Given the description of an element on the screen output the (x, y) to click on. 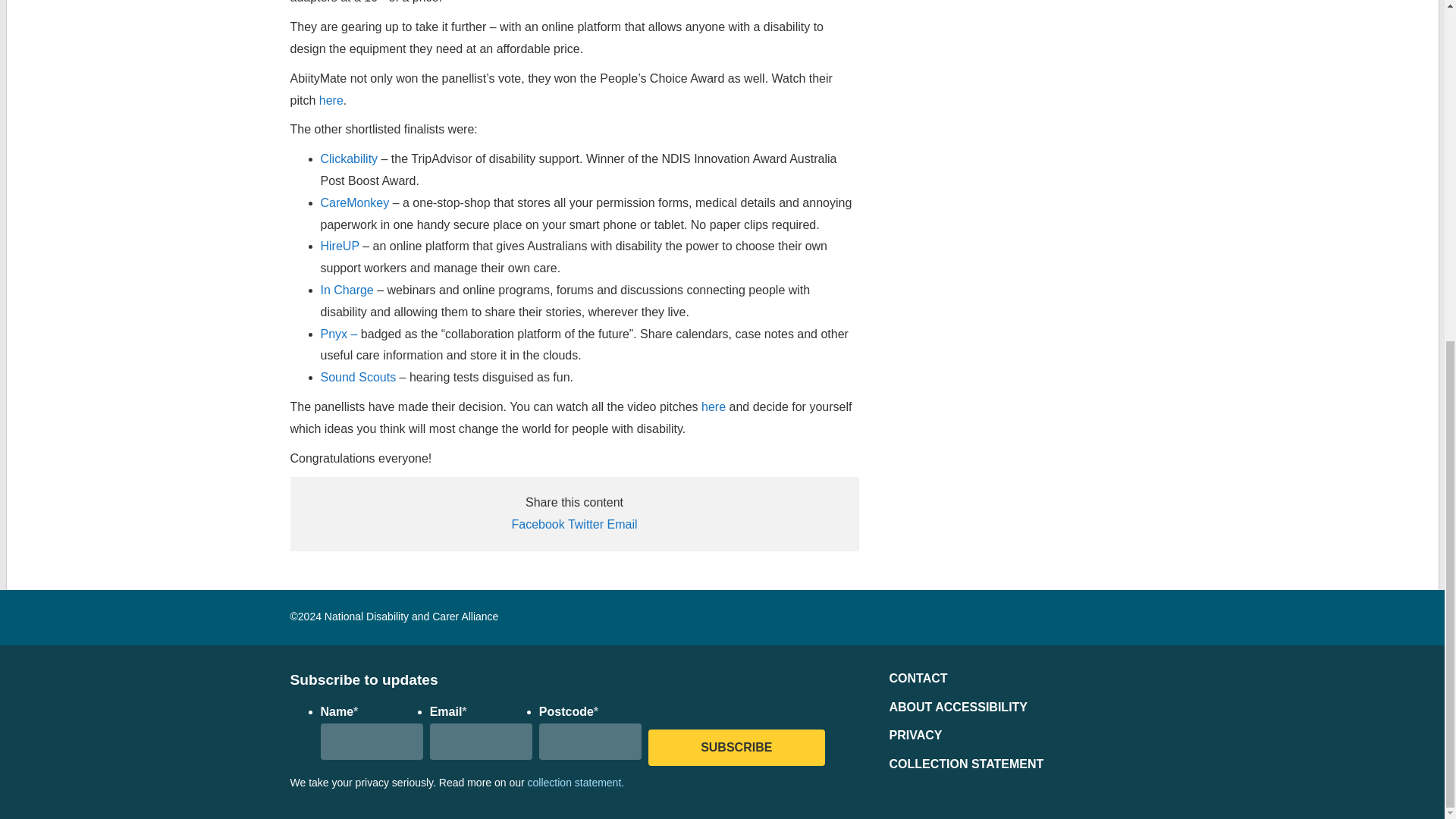
Share via Email (622, 523)
Clickability (348, 158)
Share via Twitter (585, 523)
here (330, 100)
Subscribe (736, 747)
Share via Facebook (537, 523)
CareMonkey (354, 202)
